Given the description of an element on the screen output the (x, y) to click on. 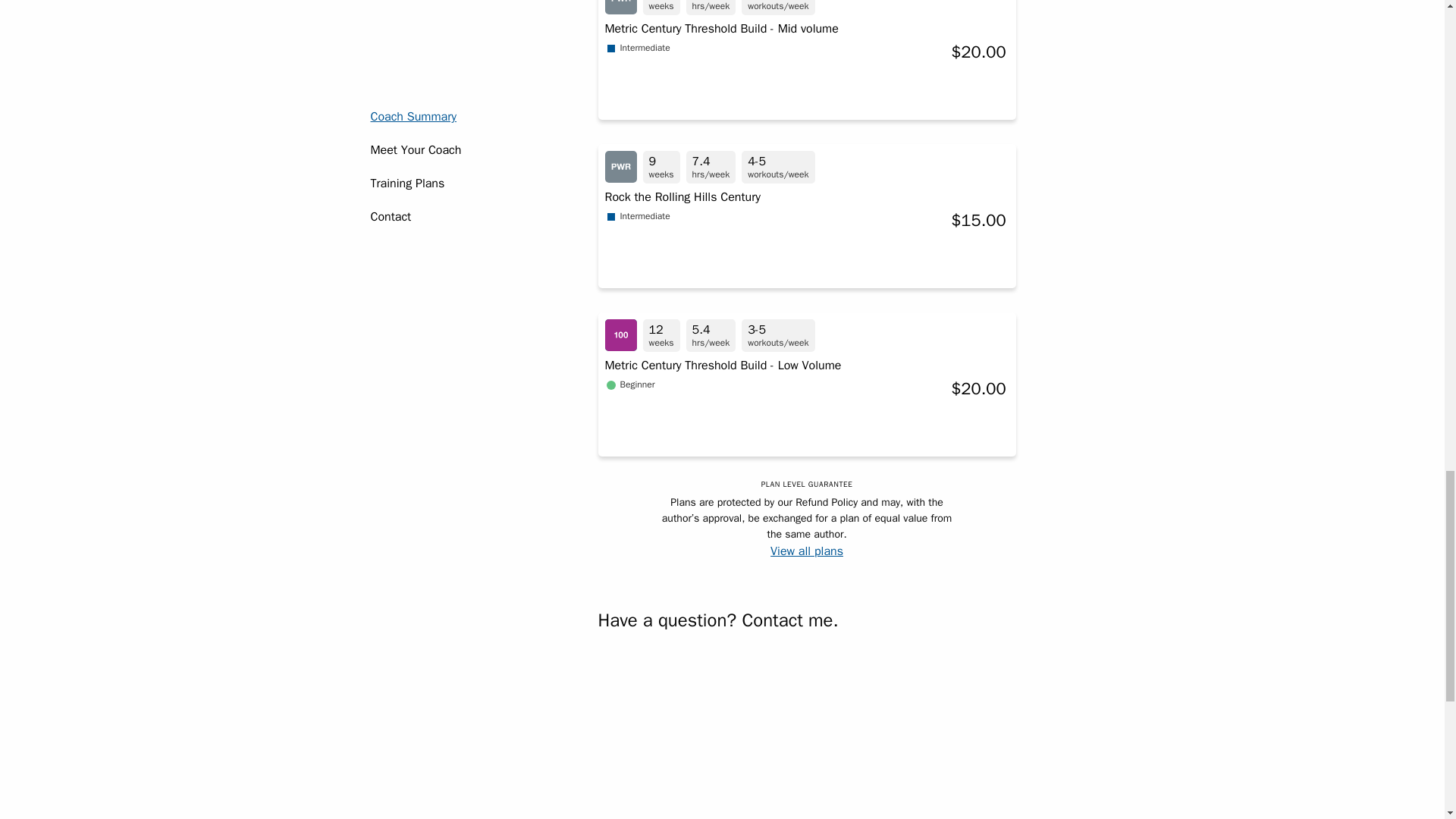
power-meter (621, 7)
power-meter (621, 166)
century (621, 335)
